Given the description of an element on the screen output the (x, y) to click on. 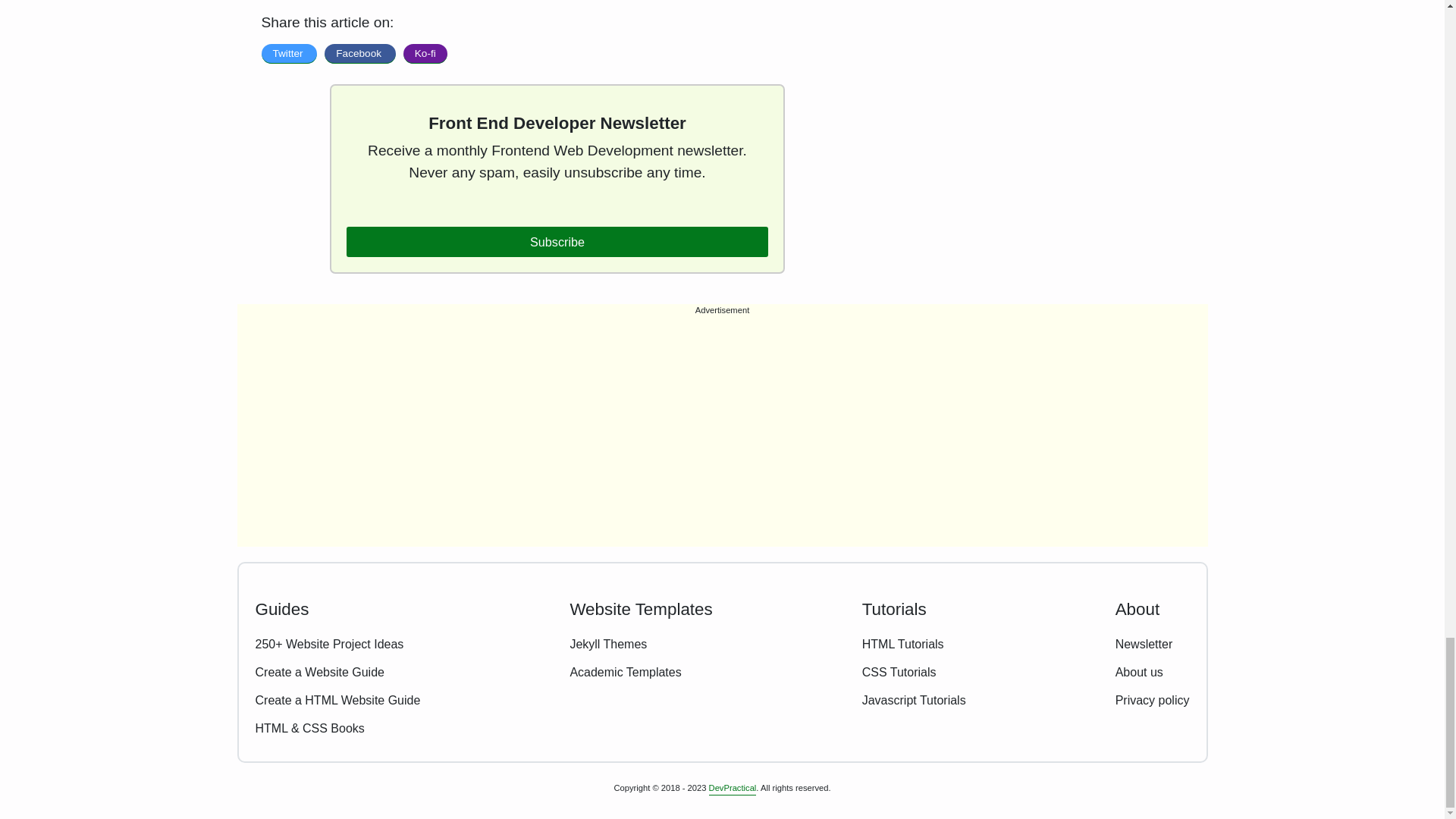
DevPractical (733, 788)
Facebook (359, 53)
Ko-fi (424, 53)
About us (1139, 672)
Subscribe (557, 241)
Javascript Tutorials (913, 701)
HTML Tutorials (902, 645)
Privacy policy (1152, 701)
Share on Twitter (288, 53)
Create a Website Guide (319, 672)
